Given the description of an element on the screen output the (x, y) to click on. 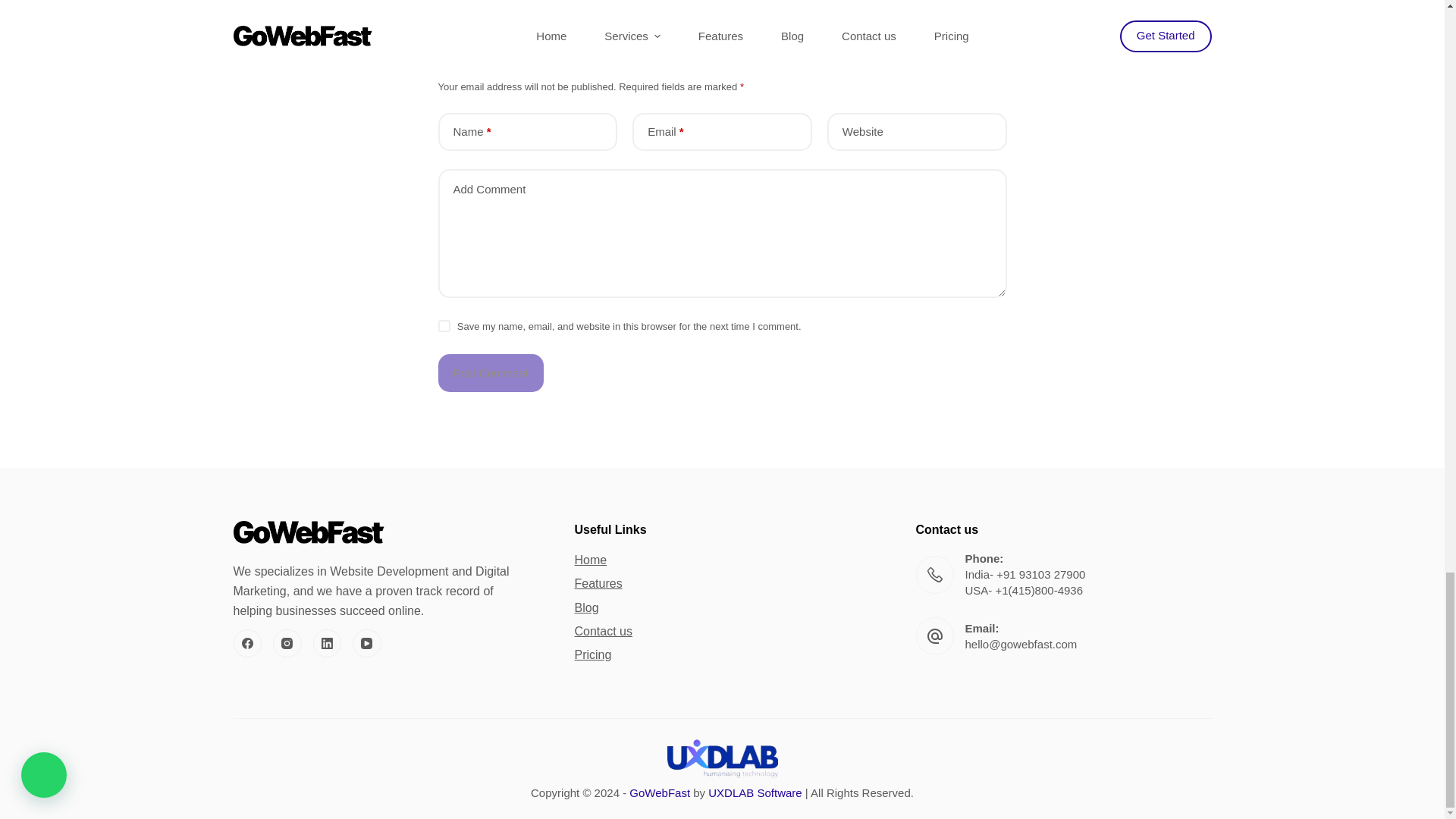
yes (443, 326)
